Given the description of an element on the screen output the (x, y) to click on. 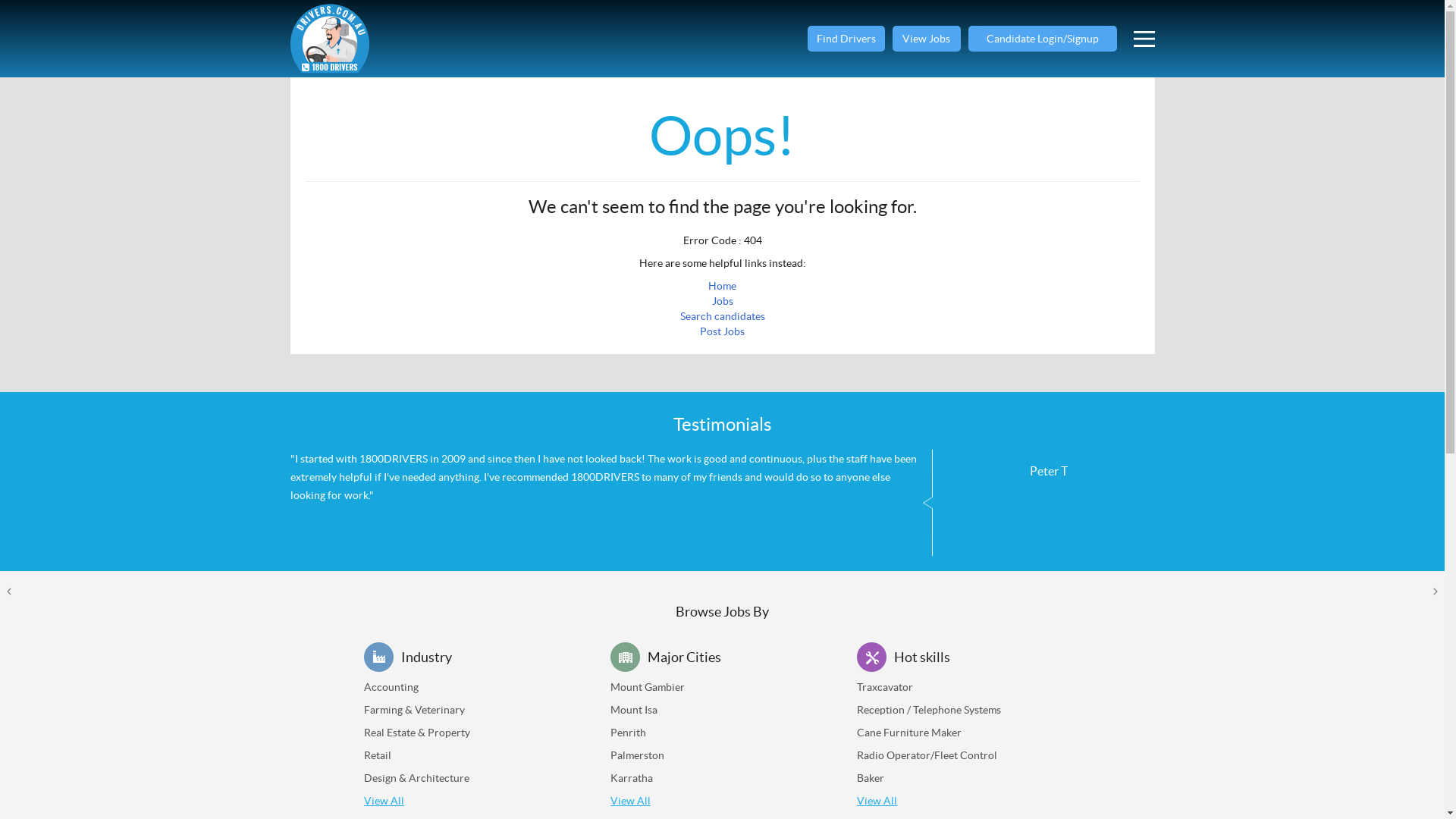
Baker Element type: text (870, 777)
View Jobs Element type: text (925, 38)
View All Element type: text (630, 800)
Farming & Veterinary Element type: text (414, 709)
Cane Furniture Maker Element type: text (908, 732)
View All Element type: text (876, 800)
Palmerston Element type: text (637, 755)
Accounting Element type: text (391, 686)
Candidate Login/Signup Element type: text (1041, 38)
Find Drivers Element type: text (845, 38)
Real Estate & Property Element type: text (417, 732)
Mount Gambier Element type: text (647, 686)
View All Element type: text (384, 800)
Jobs Element type: text (721, 300)
Traxcavator Element type: text (884, 686)
Reception / Telephone Systems Element type: text (928, 709)
Karratha Element type: text (631, 777)
Candidate Login/Signup Element type: text (1041, 38)
Mount Isa Element type: text (633, 709)
Search candidates Element type: text (721, 316)
Retail Element type: text (377, 755)
Post Jobs Element type: text (721, 331)
Radio Operator/Fleet Control Element type: text (926, 755)
Penrith Element type: text (628, 732)
Design & Architecture Element type: text (416, 777)
Home Element type: text (722, 285)
